Given the description of an element on the screen output the (x, y) to click on. 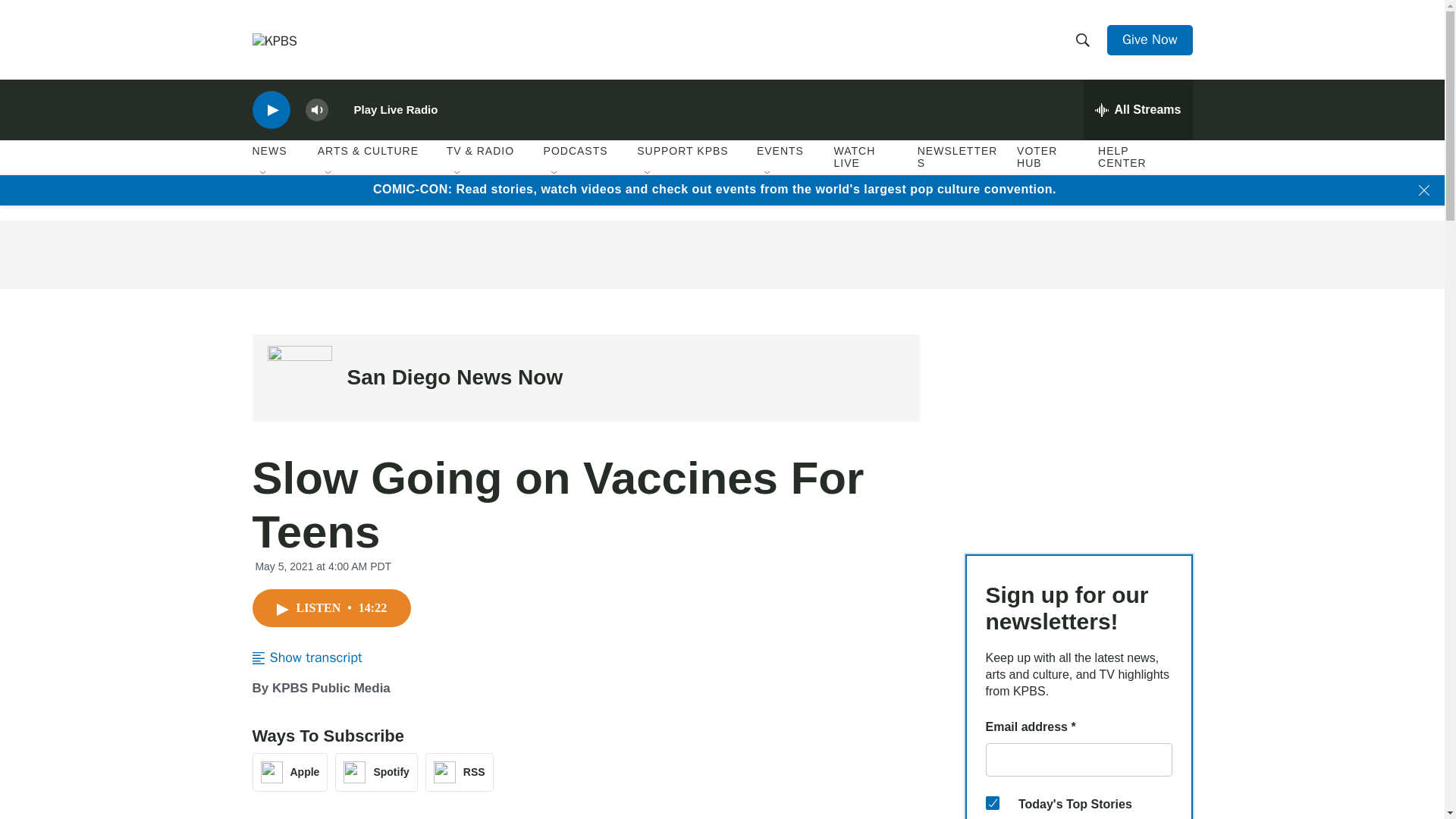
4 (991, 802)
